Given the description of an element on the screen output the (x, y) to click on. 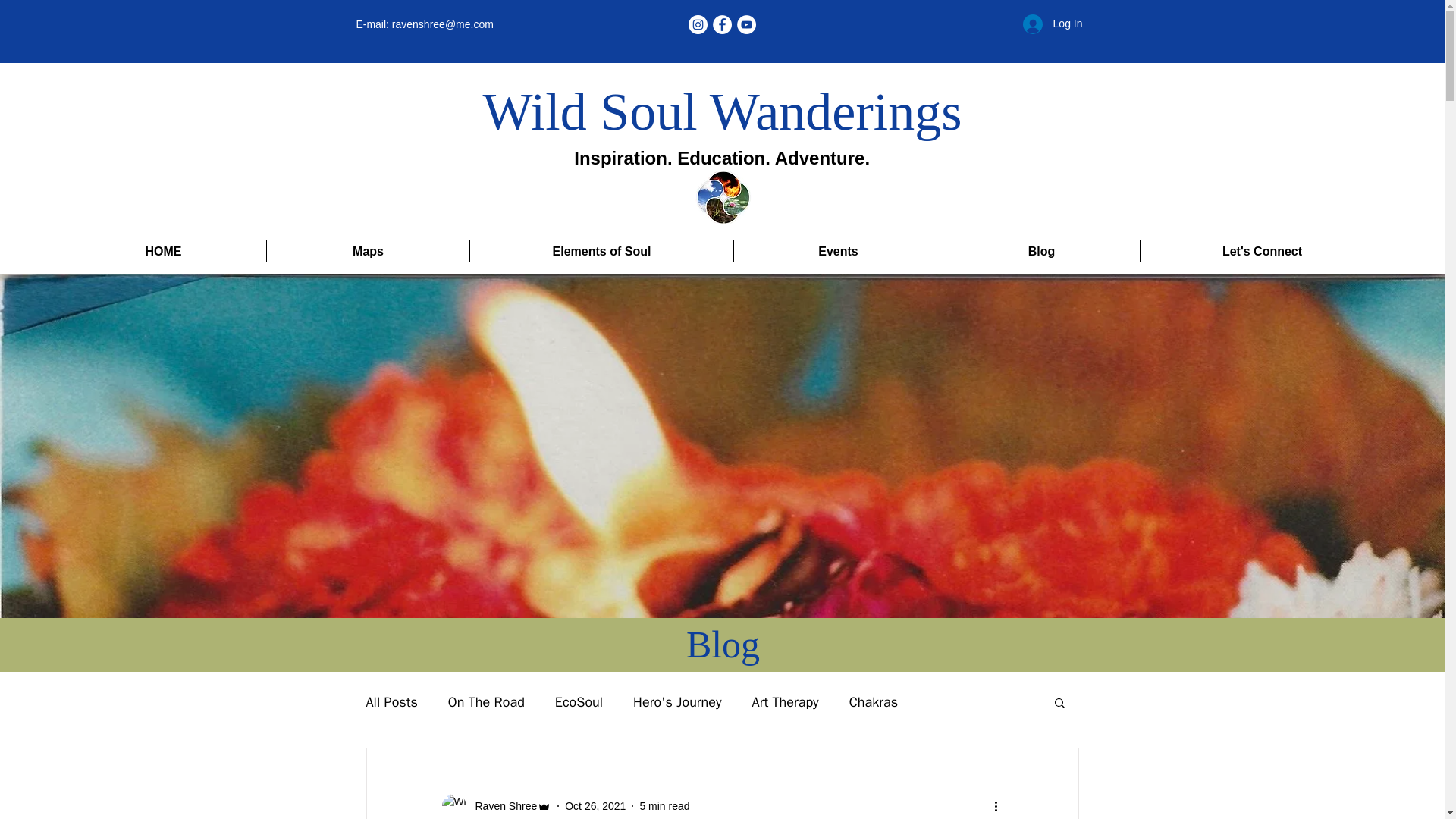
Hero's Journey (676, 701)
Art Therapy (785, 701)
HOME (163, 251)
Elements of Soul (601, 251)
Oct 26, 2021 (595, 805)
Raven Shree (496, 805)
Let's Connect (1262, 251)
Events (837, 251)
EcoSoul (578, 701)
On The Road (486, 701)
